Given the description of an element on the screen output the (x, y) to click on. 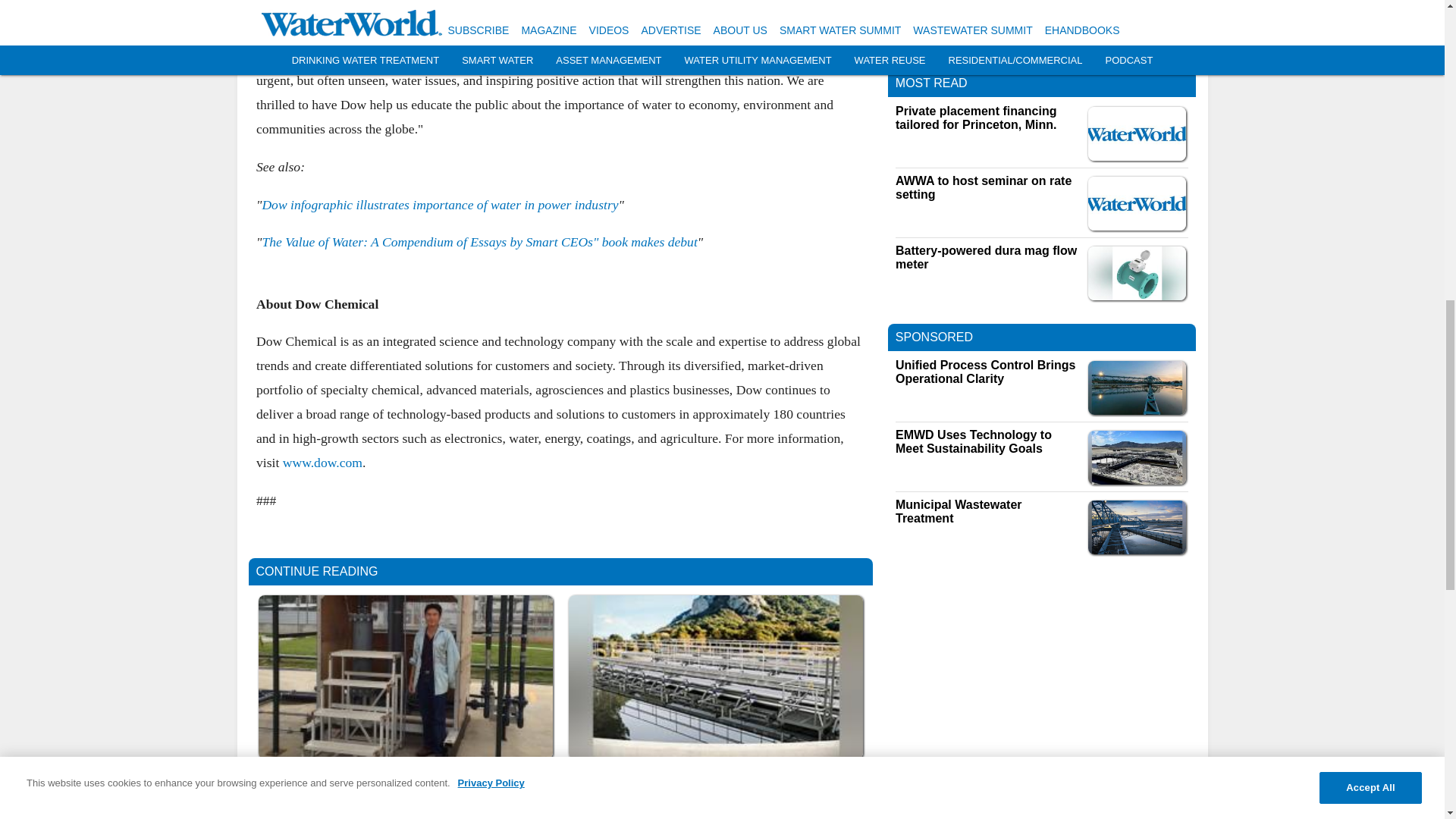
Membranes for Municipal Water and Wastewater Treatment (715, 777)
www.dow.com (321, 462)
